Given the description of an element on the screen output the (x, y) to click on. 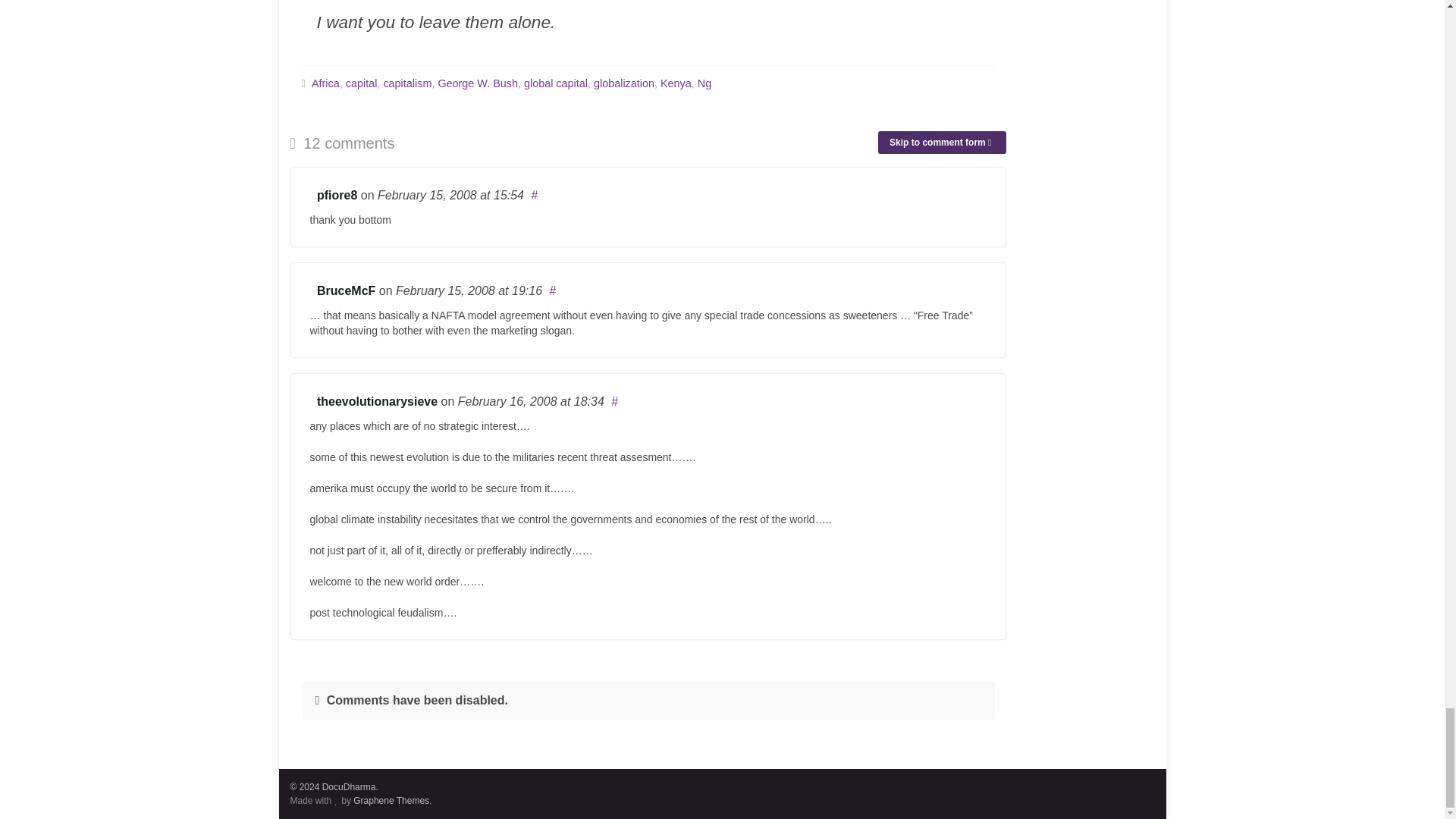
Africa (325, 82)
global capital (556, 82)
pfiore8 (336, 195)
Skip to comment form (941, 142)
theevolutionarysieve (377, 400)
globalization (623, 82)
BruceMcF (346, 290)
capitalism (406, 82)
capital (361, 82)
George W. Bush (478, 82)
